Given the description of an element on the screen output the (x, y) to click on. 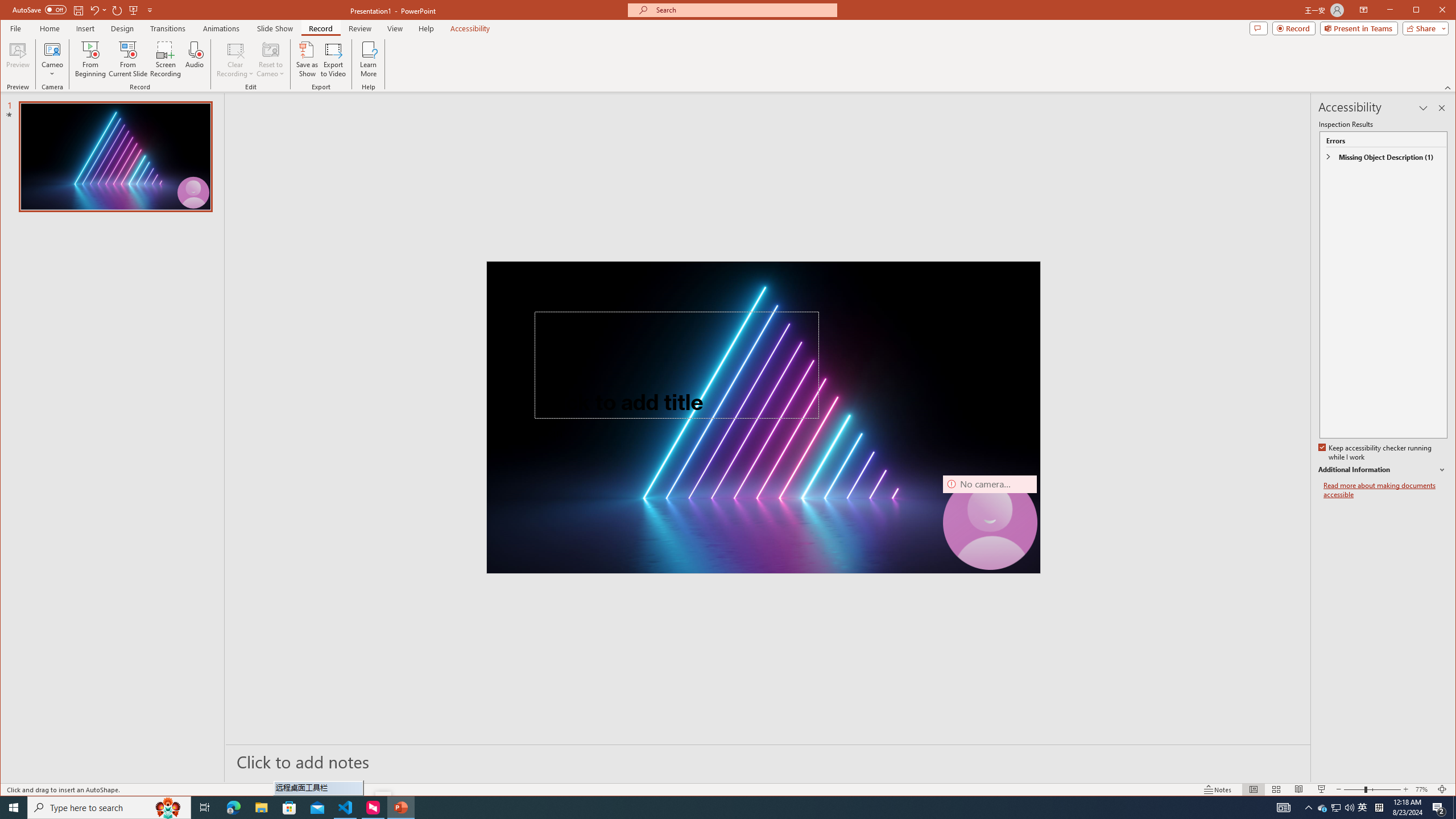
Subtitle TextBox (649, 466)
Read more about making documents accessible (1385, 489)
User Promoted Notification Area (1336, 807)
Audio (194, 59)
Q2790: 100% (1349, 807)
Search highlights icon opens search home window (167, 807)
Microsoft Store (289, 807)
Notification Chevron (1308, 807)
Cameo (52, 59)
